Given the description of an element on the screen output the (x, y) to click on. 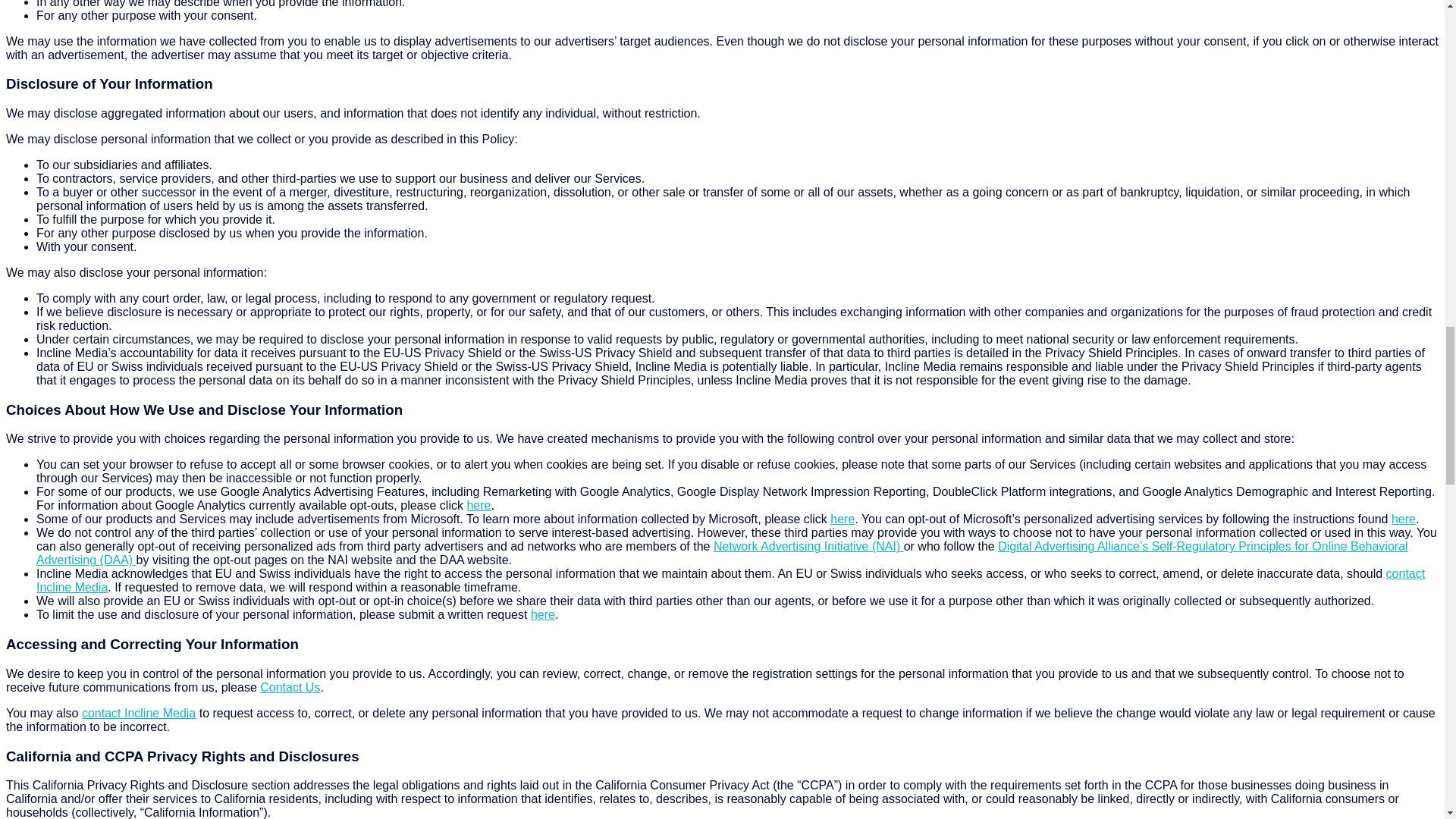
contact Incline Media (730, 580)
contact Incline Media (138, 712)
Contact Us (290, 686)
here (1403, 518)
here (477, 504)
here (542, 614)
here (841, 518)
